Given the description of an element on the screen output the (x, y) to click on. 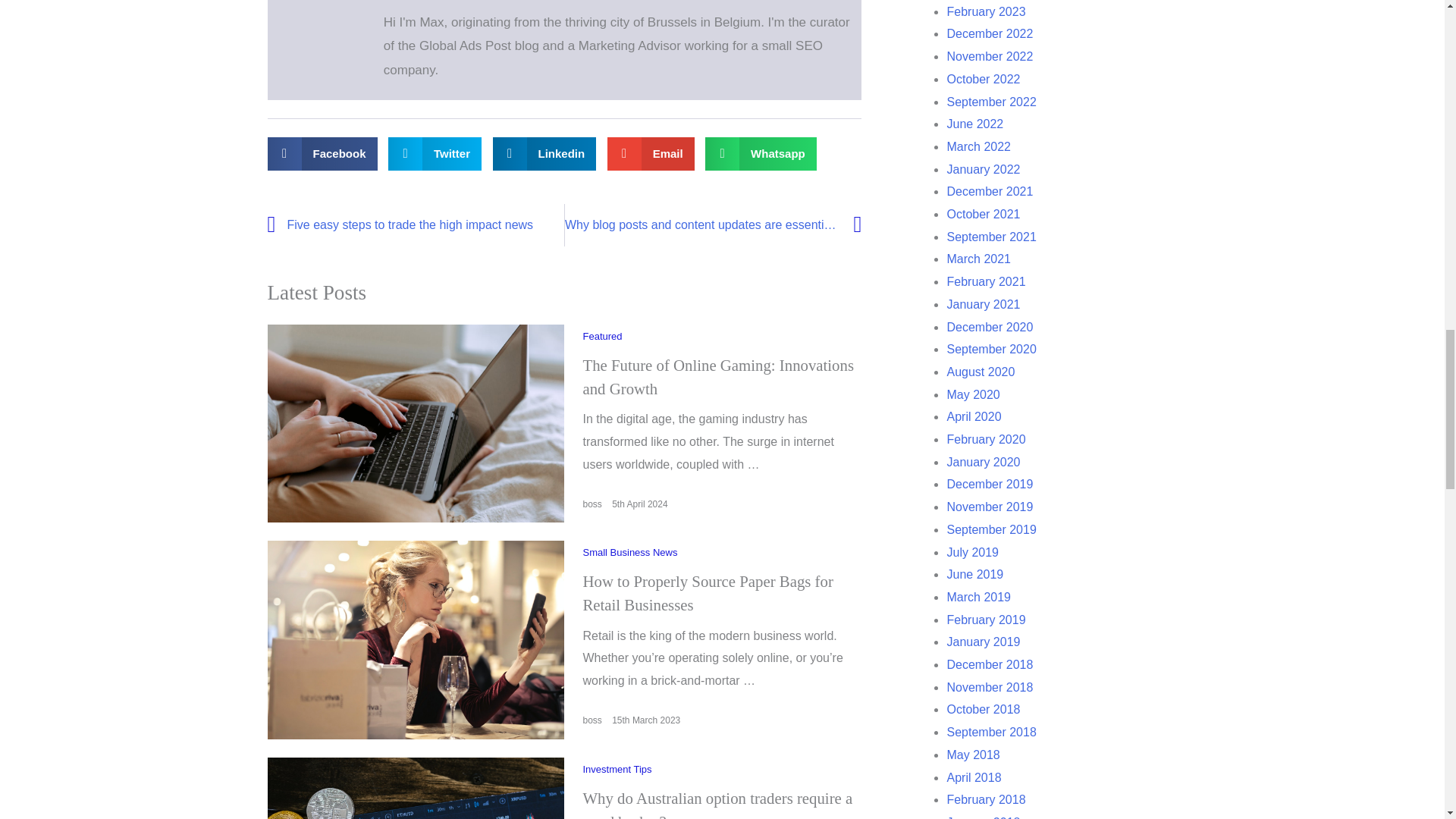
The Future of Online Gaming: Innovations and Growth (415, 422)
Posts by boss (543, 153)
Posts by boss (591, 719)
How to Properly Source Paper Bags for Retail Businesses (322, 153)
